Given the description of an element on the screen output the (x, y) to click on. 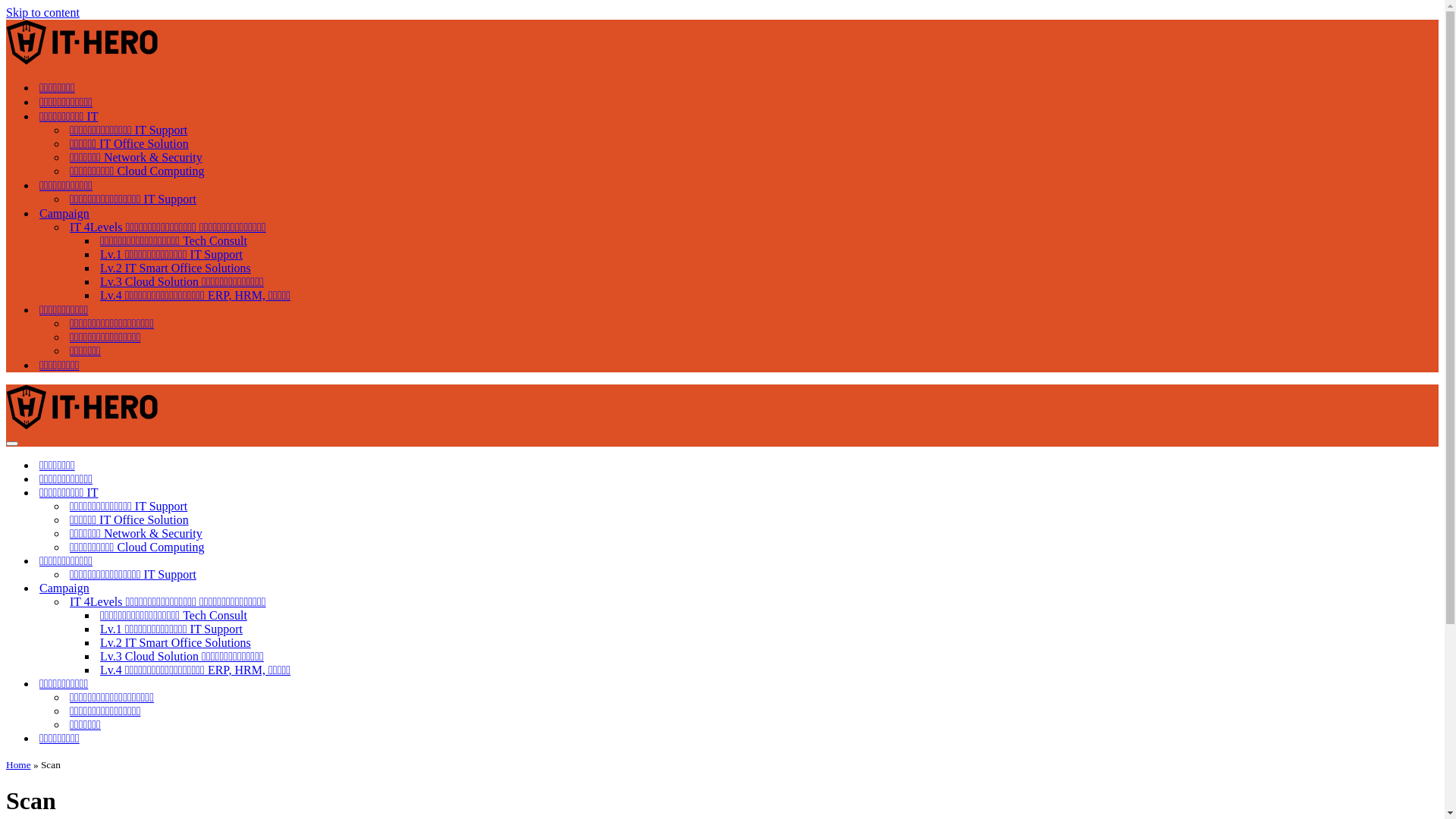
Campaign Element type: text (64, 213)
Navigation Menu Element type: text (12, 443)
Lv.2 IT Smart Office Solutions Element type: text (175, 268)
Campaign Element type: text (730, 588)
Lv.2 IT Smart Office Solutions Element type: text (767, 642)
Skip to content Element type: text (42, 12)
Home Element type: text (18, 764)
